Given the description of an element on the screen output the (x, y) to click on. 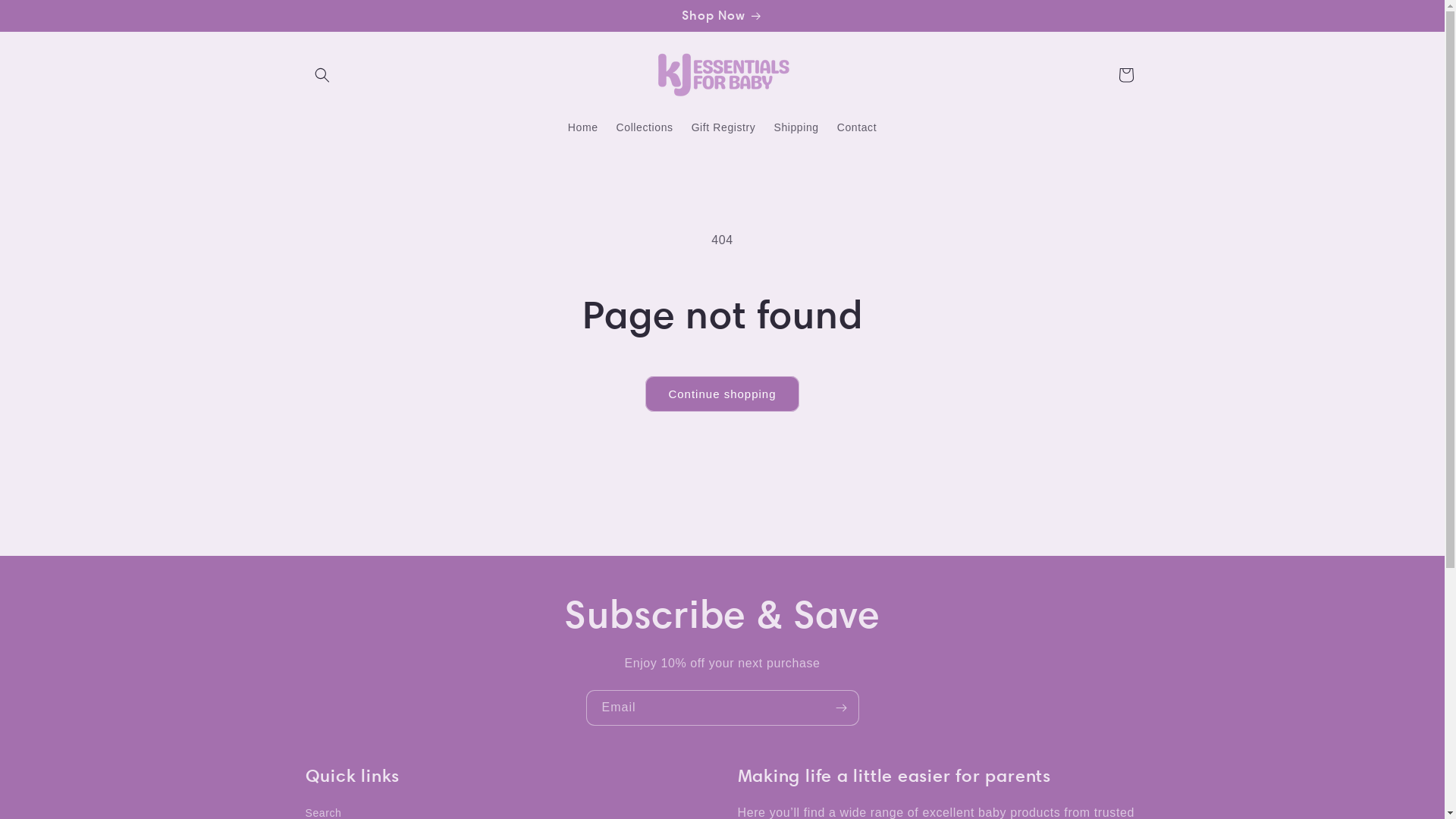
Collections Element type: text (644, 127)
Shop Now Element type: text (721, 15)
Continue shopping Element type: text (721, 393)
Cart Element type: text (1125, 74)
Shipping Element type: text (795, 127)
Gift Registry Element type: text (723, 127)
Home Element type: text (582, 127)
Contact Element type: text (856, 127)
